Given the description of an element on the screen output the (x, y) to click on. 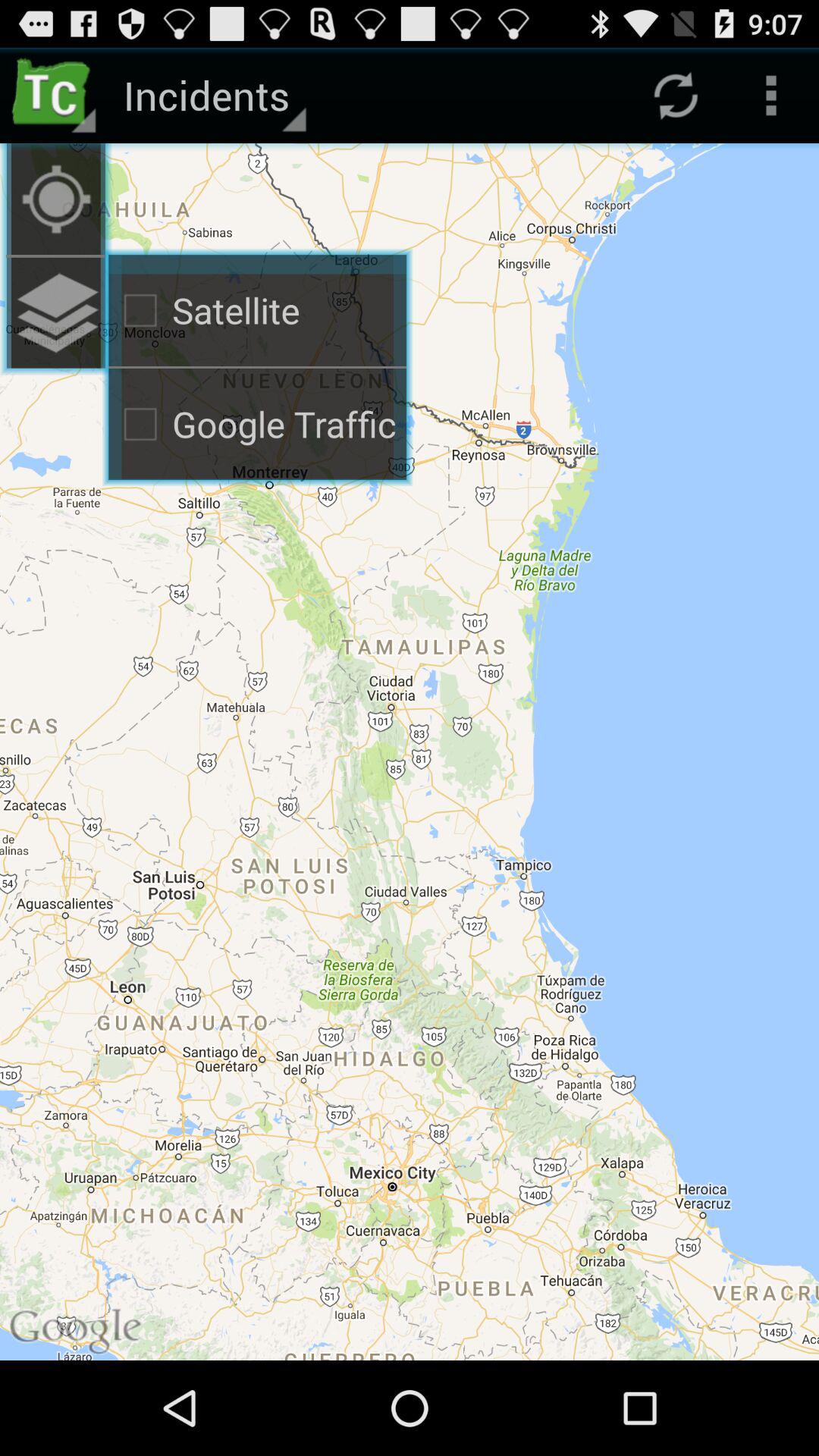
scroll to the incidents icon (212, 95)
